Given the description of an element on the screen output the (x, y) to click on. 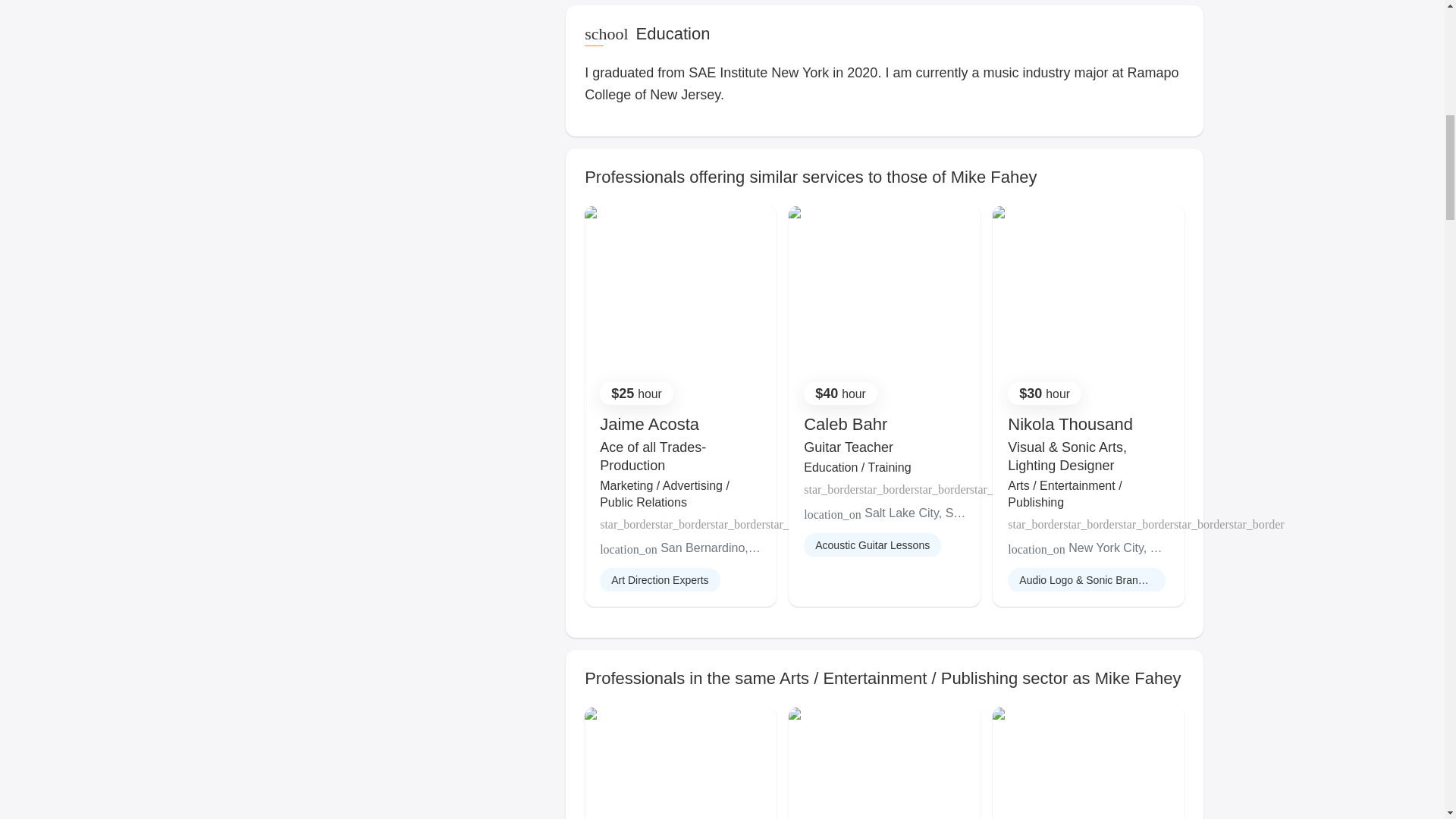
Jaime Acosta (648, 424)
Caleb Bahr (844, 424)
Nikola Thousand (1069, 424)
Nikola Thousand (1069, 424)
Jaime Acosta (648, 424)
Caleb  Bahr (844, 424)
